Given the description of an element on the screen output the (x, y) to click on. 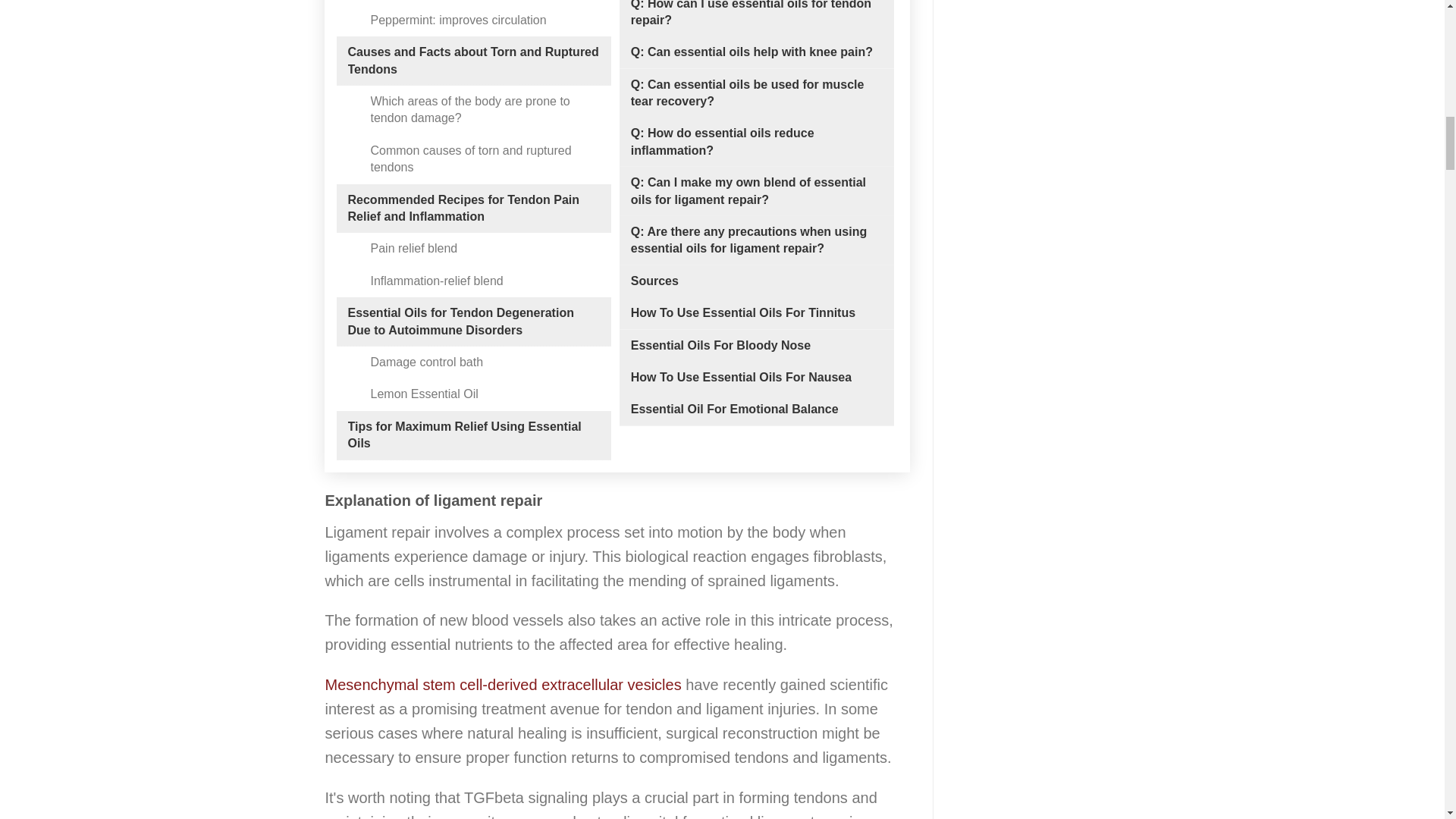
Damage control bath (426, 362)
Pain relief blend (413, 248)
How To Use Essential Oils For Nausea (740, 377)
Q: How do essential oils reduce inflammation? (756, 141)
Common causes of torn and ruptured tendons (483, 159)
Which areas of the body are prone to tendon damage? (483, 110)
Q: Can essential oils be used for muscle tear recovery? (756, 93)
